Given the description of an element on the screen output the (x, y) to click on. 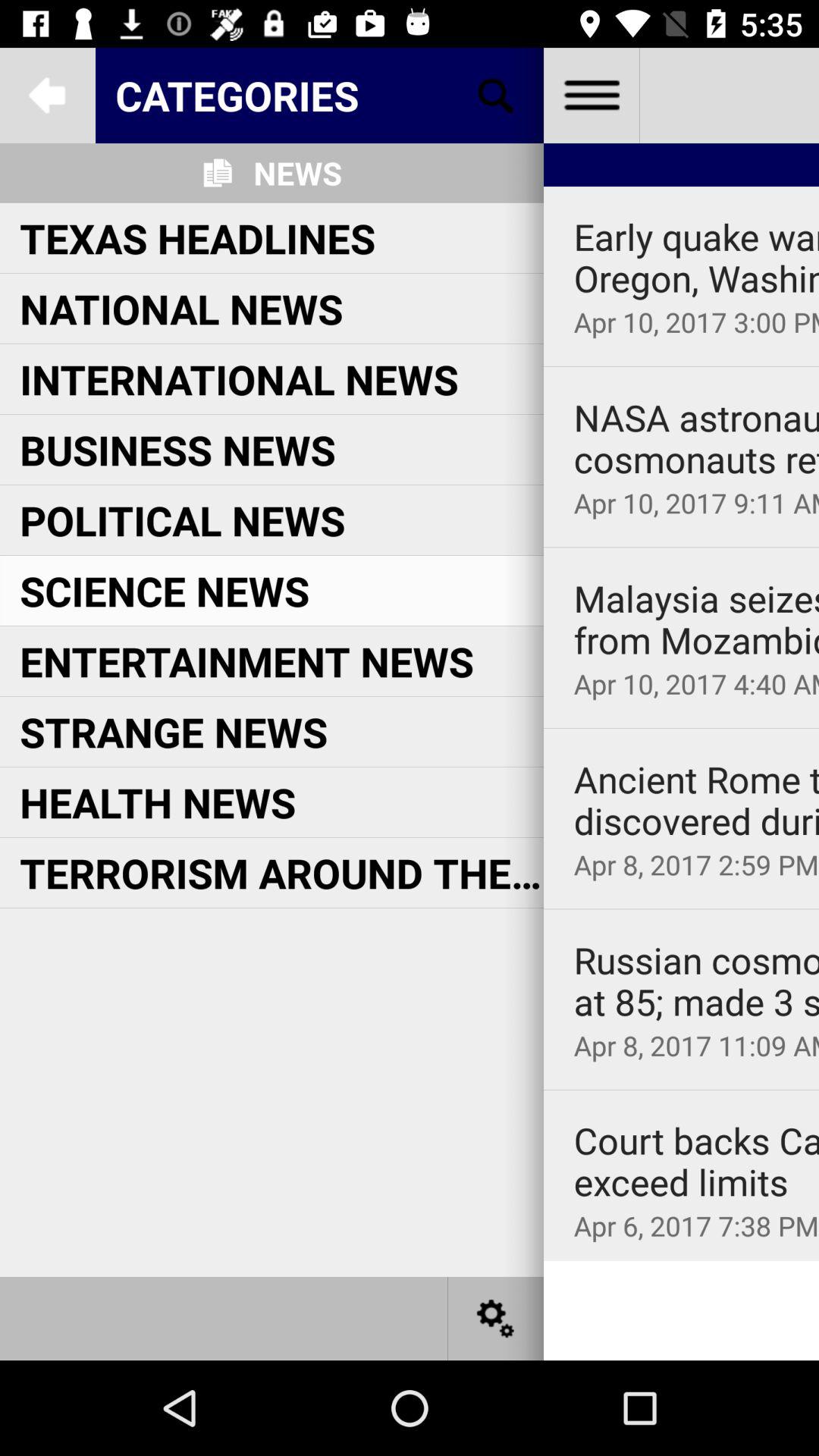
click on categories (319, 94)
click on search icon at top (495, 95)
